Given the description of an element on the screen output the (x, y) to click on. 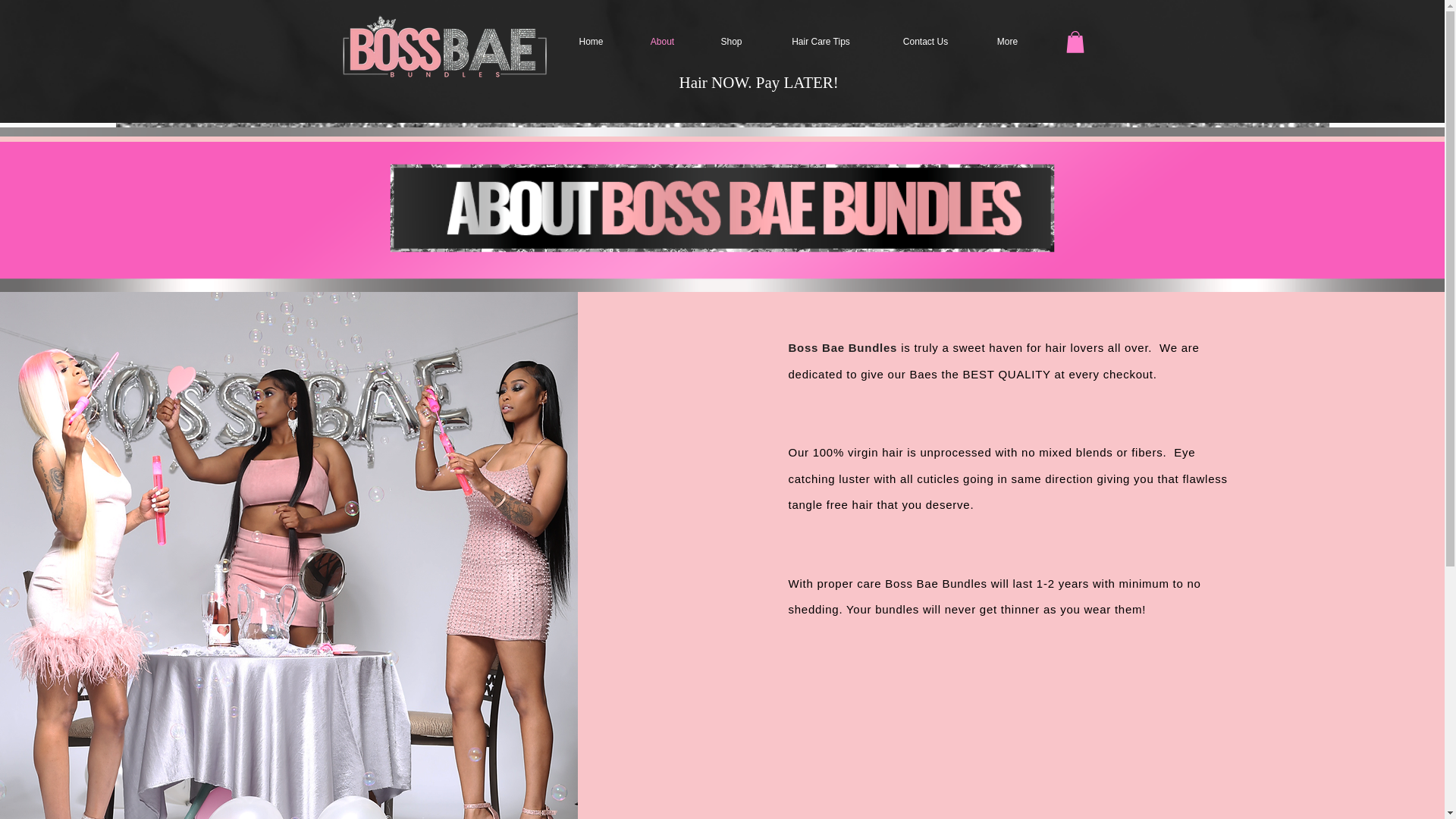
About (661, 42)
Home (590, 42)
Contact Us (925, 42)
Hair Care Tips (820, 42)
